Given the description of an element on the screen output the (x, y) to click on. 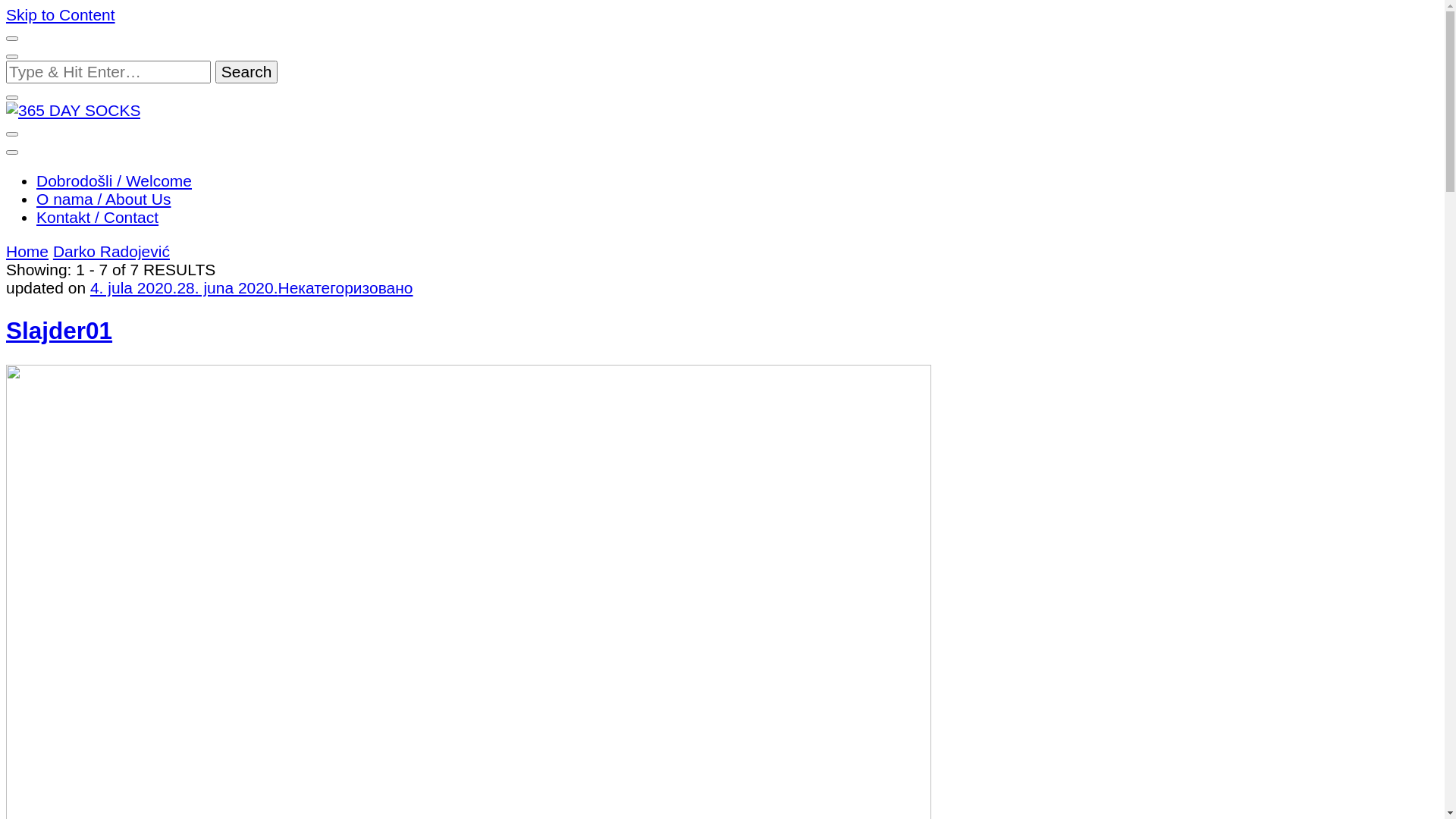
Slajder01 Element type: text (59, 330)
Home Element type: text (27, 251)
Skip to Content Element type: text (60, 14)
O nama / About Us Element type: text (103, 198)
Kontakt / Contact Element type: text (97, 216)
Search Element type: text (246, 71)
365 DAY SOCKS Element type: text (110, 166)
4. jula 2020.28. juna 2020. Element type: text (184, 287)
